Given the description of an element on the screen output the (x, y) to click on. 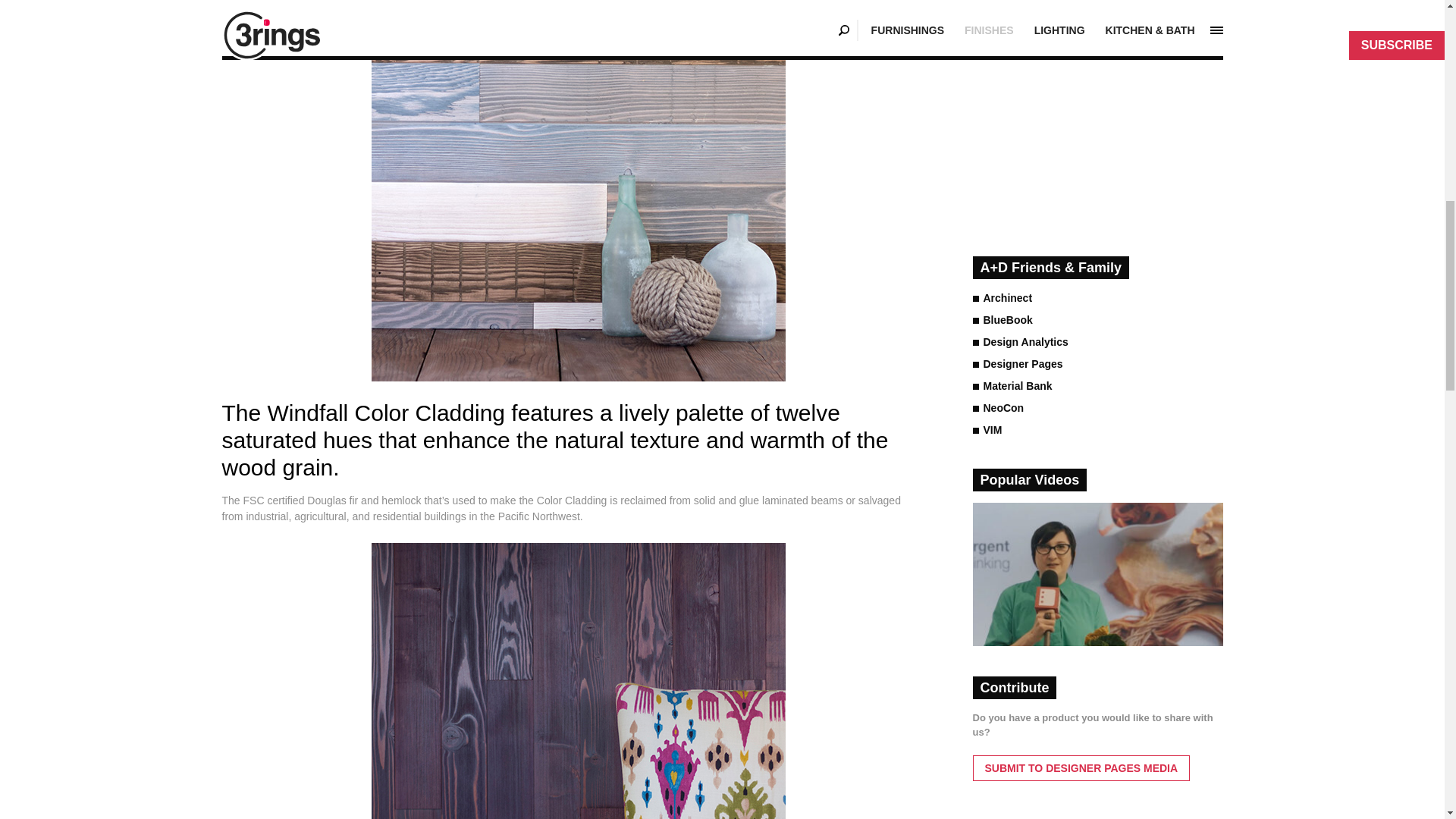
Color Cladding by Windfall Lumber and YOLO Colorhouse (578, 680)
